Given the description of an element on the screen output the (x, y) to click on. 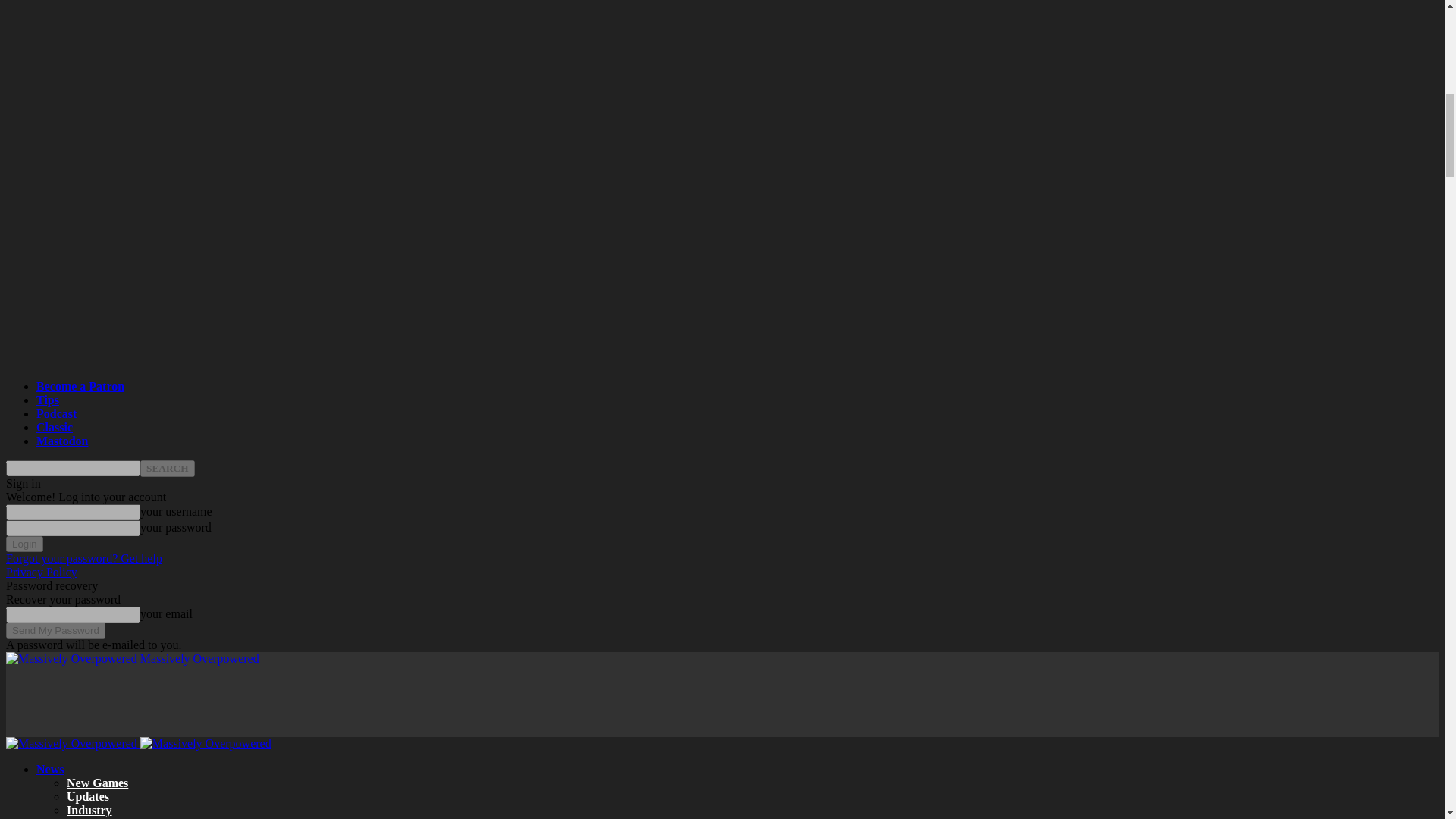
MassivelyOP.com (70, 658)
MassivelyOP.com (70, 744)
Search (167, 468)
Send My Password (54, 630)
Login (24, 544)
